Given the description of an element on the screen output the (x, y) to click on. 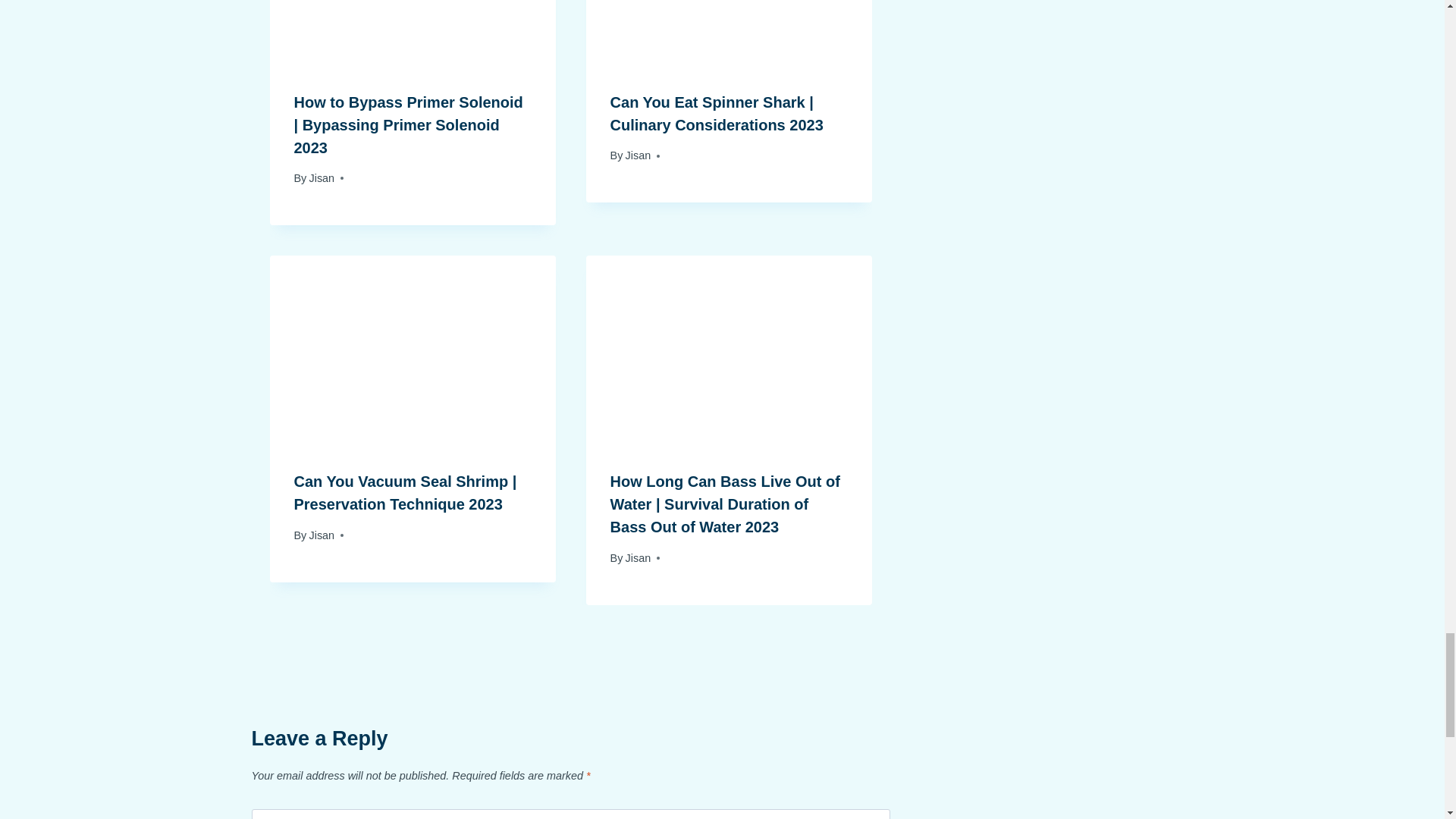
Jisan (321, 535)
Jisan (321, 177)
Jisan (638, 155)
